Given the description of an element on the screen output the (x, y) to click on. 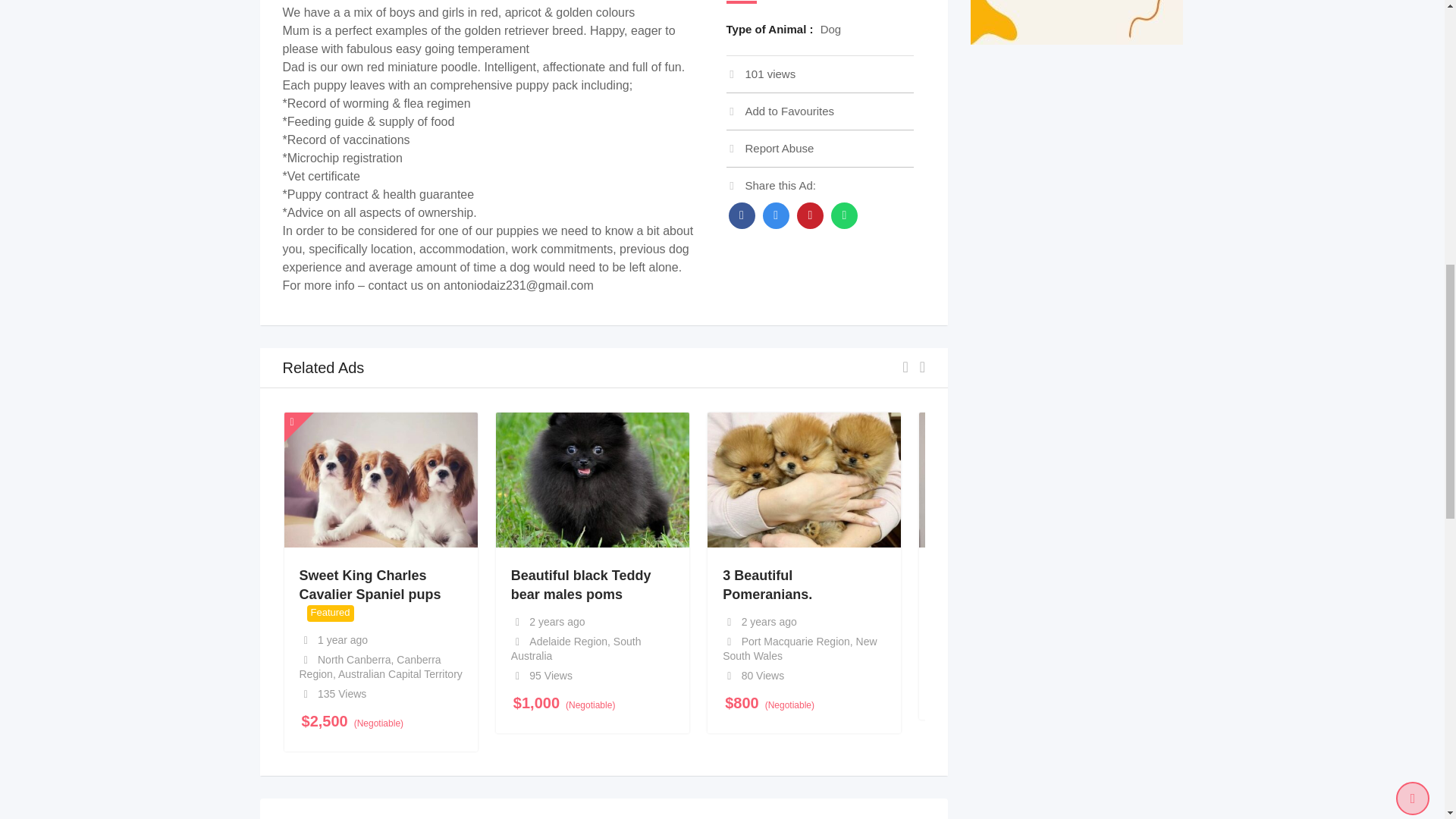
3 Beautiful Pomeranians. (767, 584)
Add to Favourites (780, 110)
Beautiful black Teddy bear males poms (580, 584)
Report Abuse (769, 147)
Sweet King Charles Cavalier Spaniel pups (369, 584)
Sweet King Charles Cavalier Spaniel pups (369, 584)
